Given the description of an element on the screen output the (x, y) to click on. 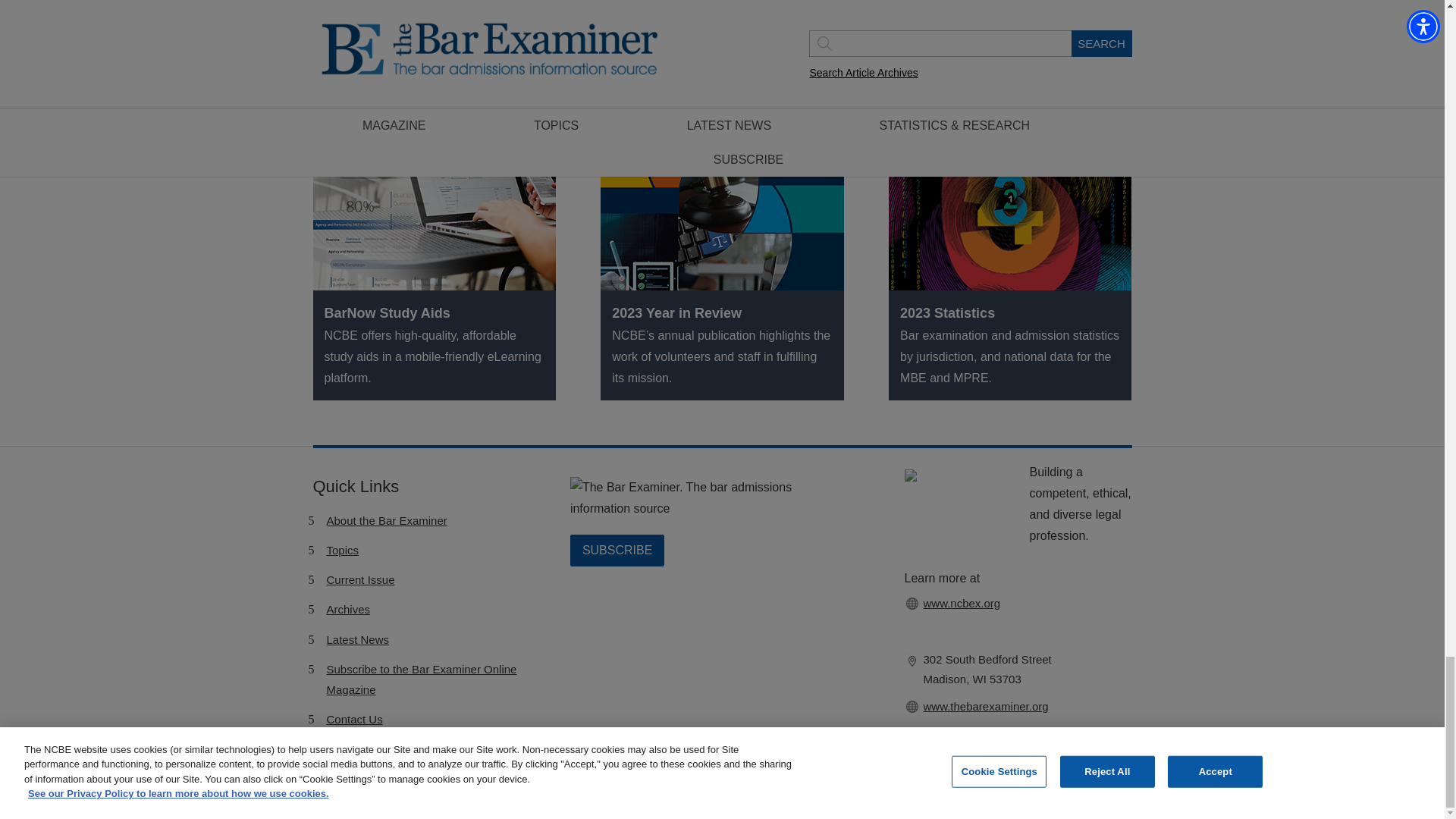
Terms of Use (846, 801)
Site Map (973, 801)
Privacy Policy (914, 801)
Accessibility (780, 801)
